Given the description of an element on the screen output the (x, y) to click on. 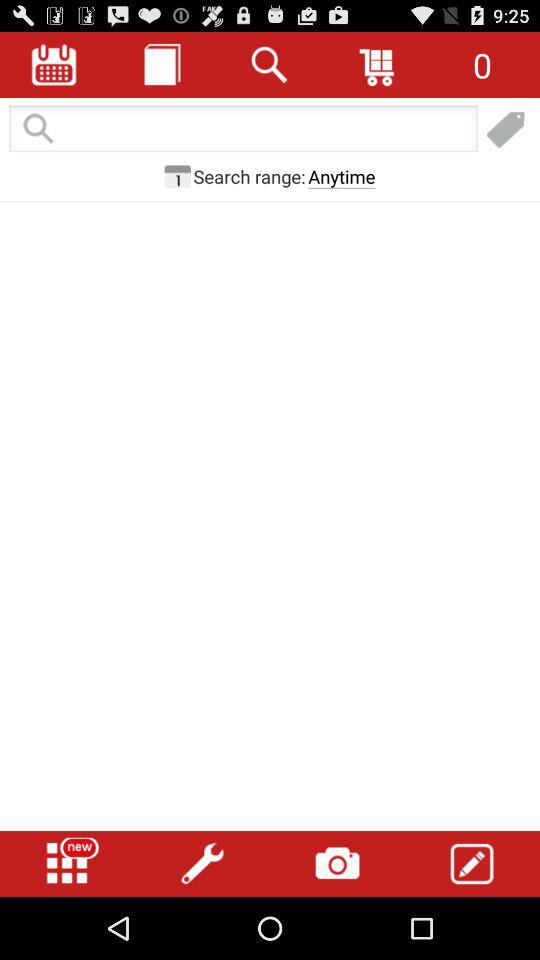
compose a message (472, 863)
